Given the description of an element on the screen output the (x, y) to click on. 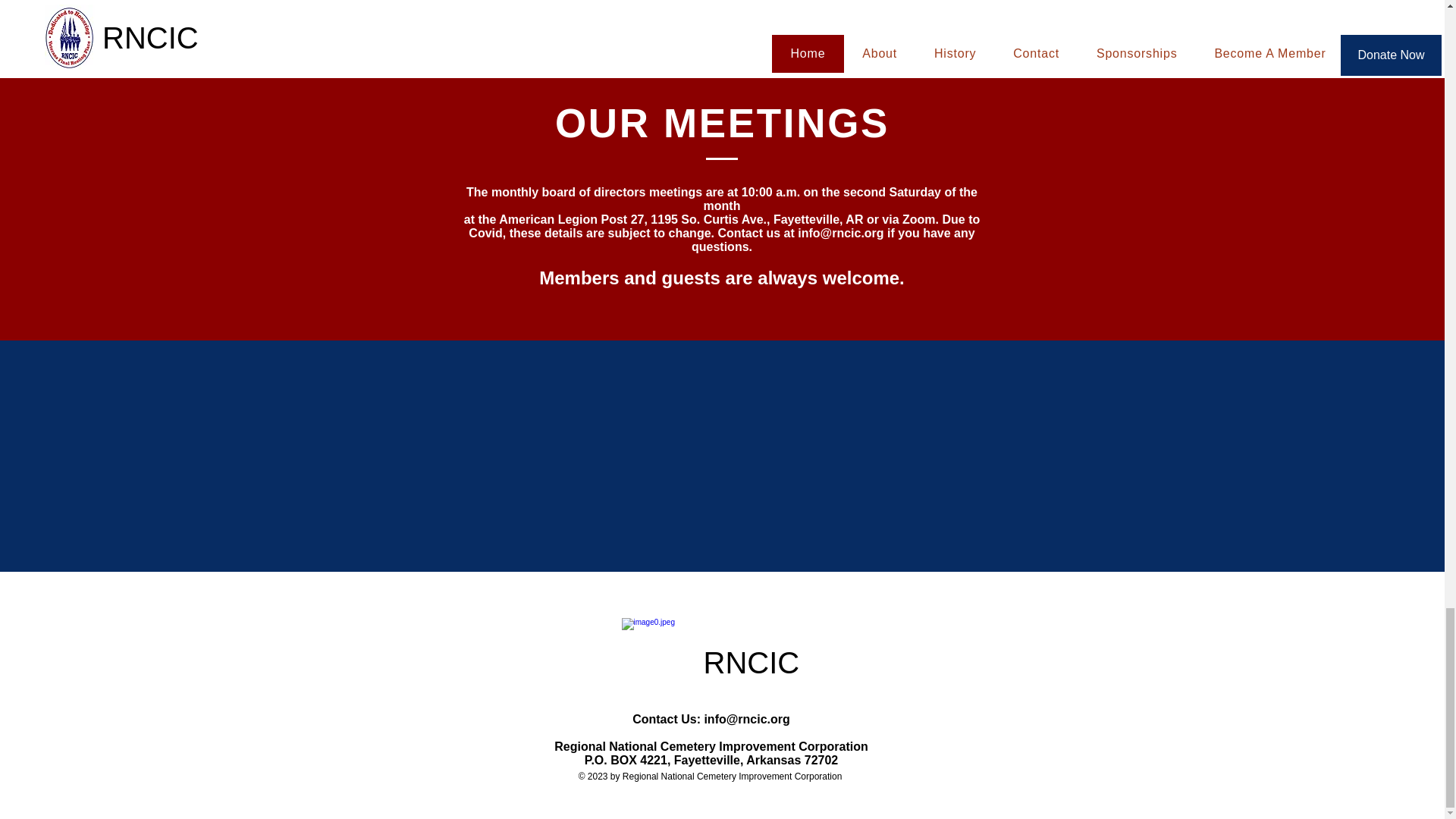
RNCIC (762, 662)
